Given the description of an element on the screen output the (x, y) to click on. 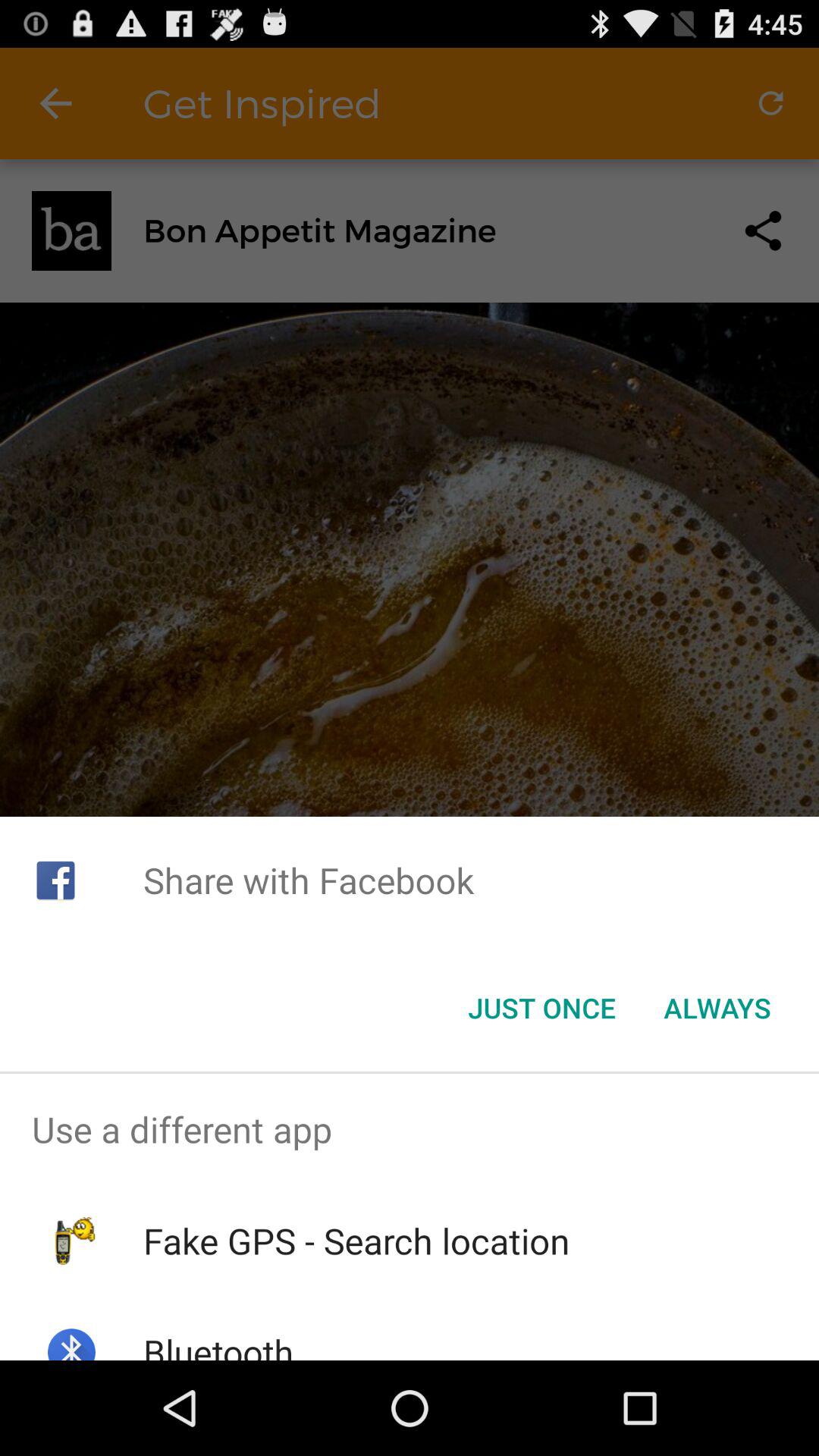
open item next to the just once (717, 1007)
